Given the description of an element on the screen output the (x, y) to click on. 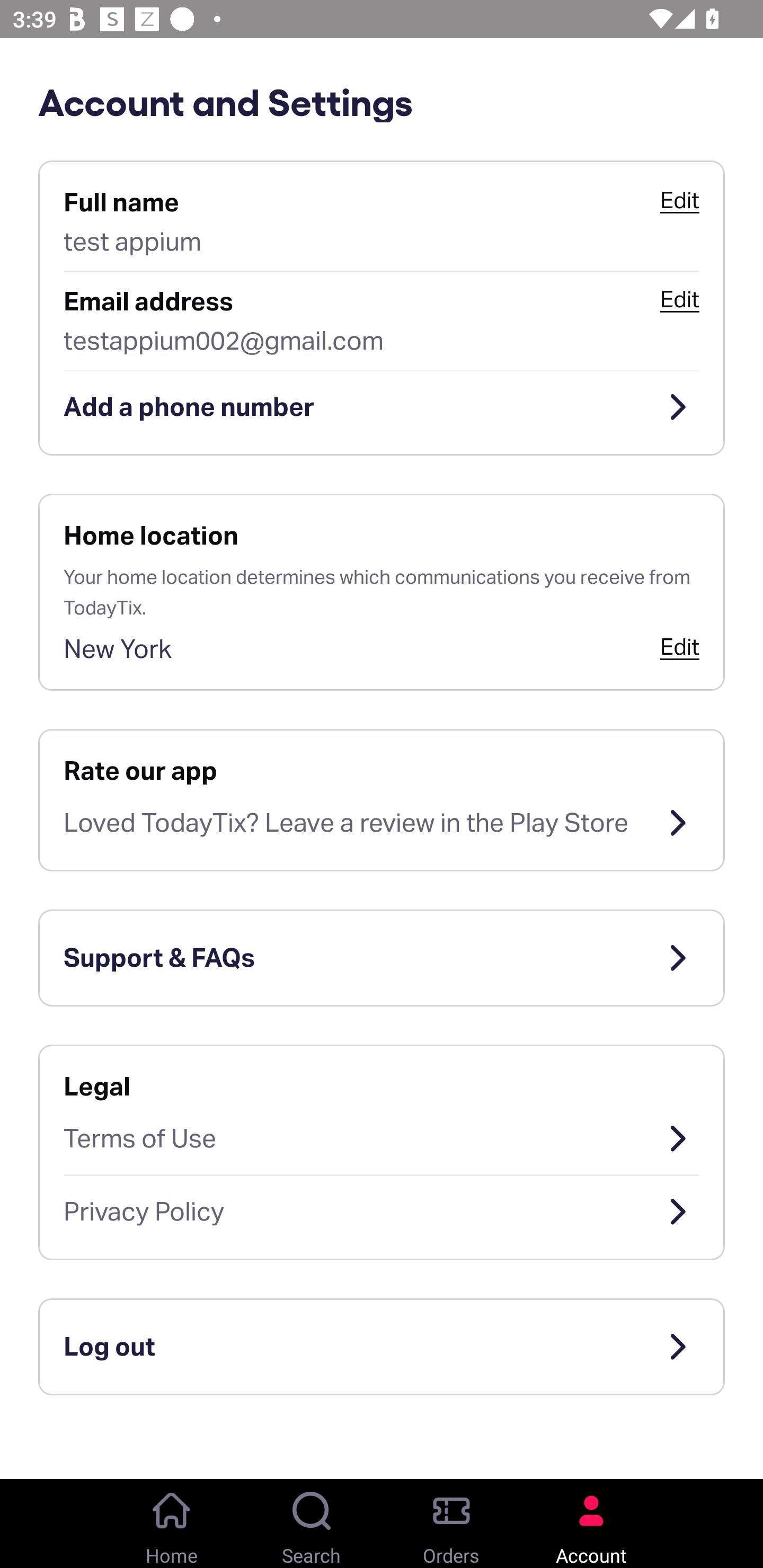
Edit (679, 200)
Edit (679, 299)
Add a phone number (381, 406)
Edit (679, 646)
Loved TodayTix? Leave a review in the Play Store (381, 822)
Support & FAQs (381, 957)
Terms of Use (381, 1137)
Privacy Policy (381, 1211)
Log out (381, 1346)
Home (171, 1523)
Search (311, 1523)
Orders (451, 1523)
